Given the description of an element on the screen output the (x, y) to click on. 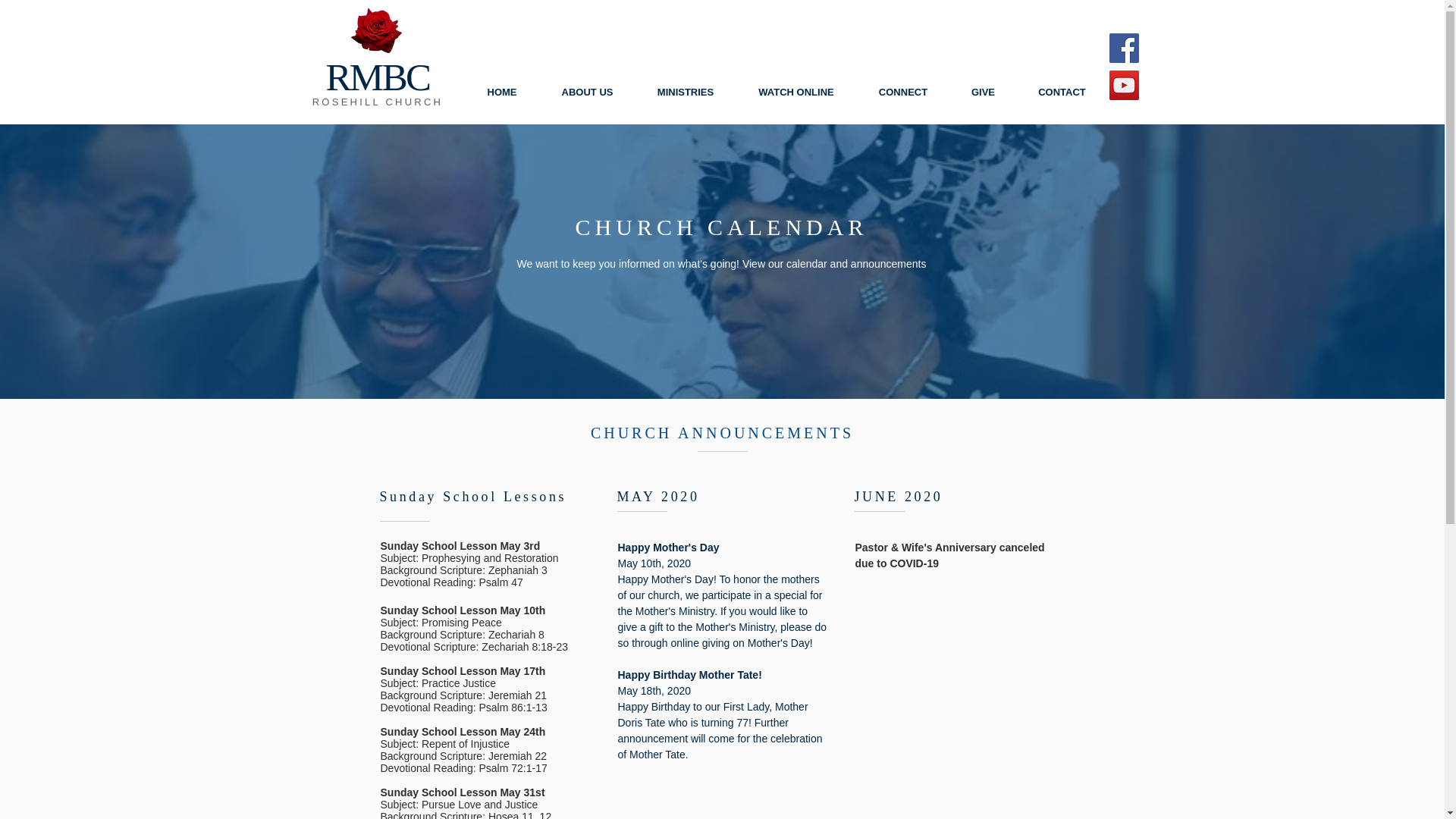
ROSEHILL CHURCH (378, 101)
CONTACT (1061, 91)
RMBC (376, 77)
WATCH ONLINE (795, 91)
MINISTRIES (685, 91)
HOME (501, 91)
GIVE (982, 91)
